Given the description of an element on the screen output the (x, y) to click on. 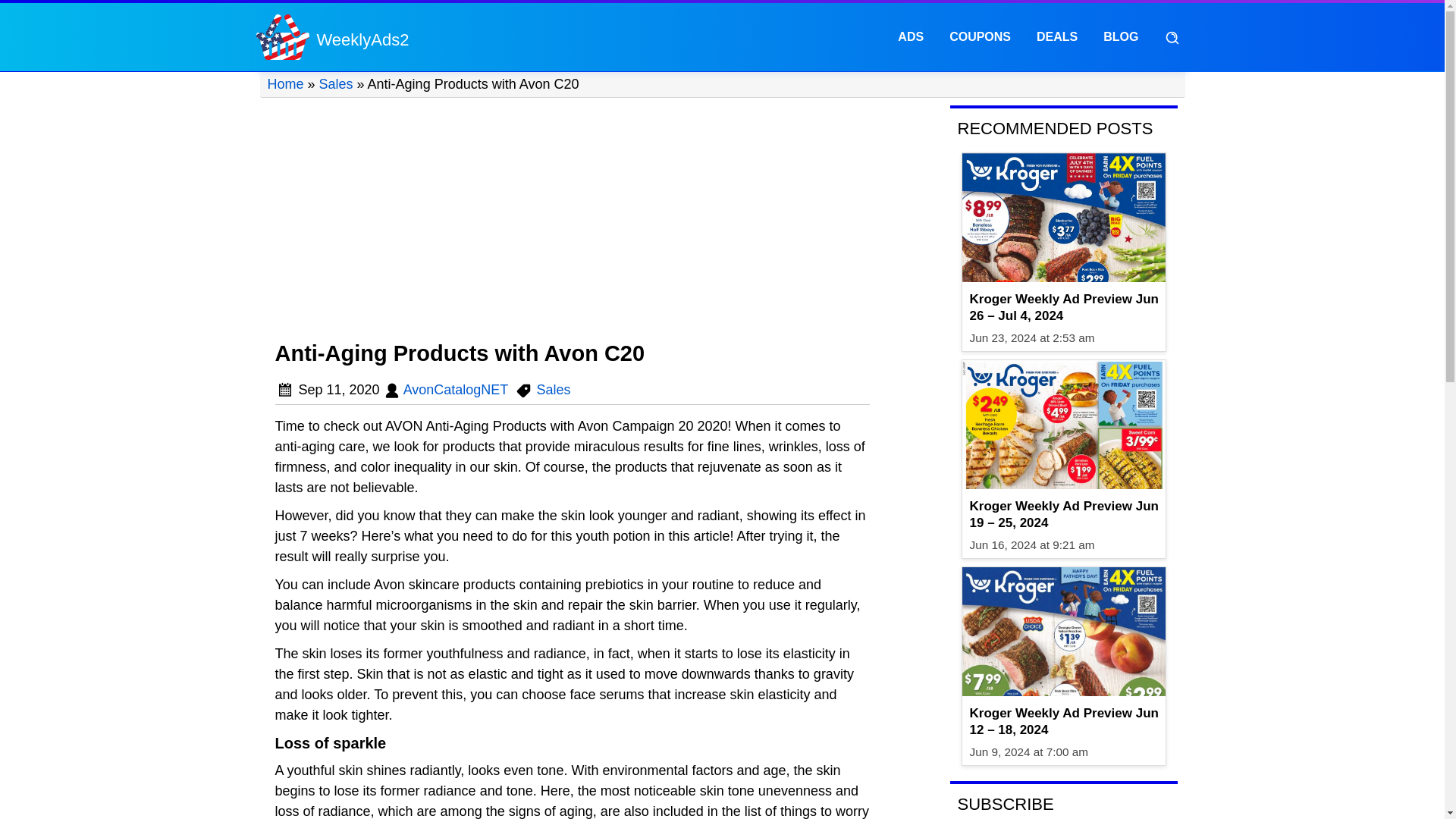
COUPONS (979, 36)
Advertisement (572, 220)
WeeklyAds2 (363, 40)
Sales (335, 83)
Home (284, 83)
BLOG (1120, 36)
AvonCatalogNET (455, 389)
DEALS (1056, 36)
WeeklyAds2 (282, 36)
Sales (552, 389)
